Given the description of an element on the screen output the (x, y) to click on. 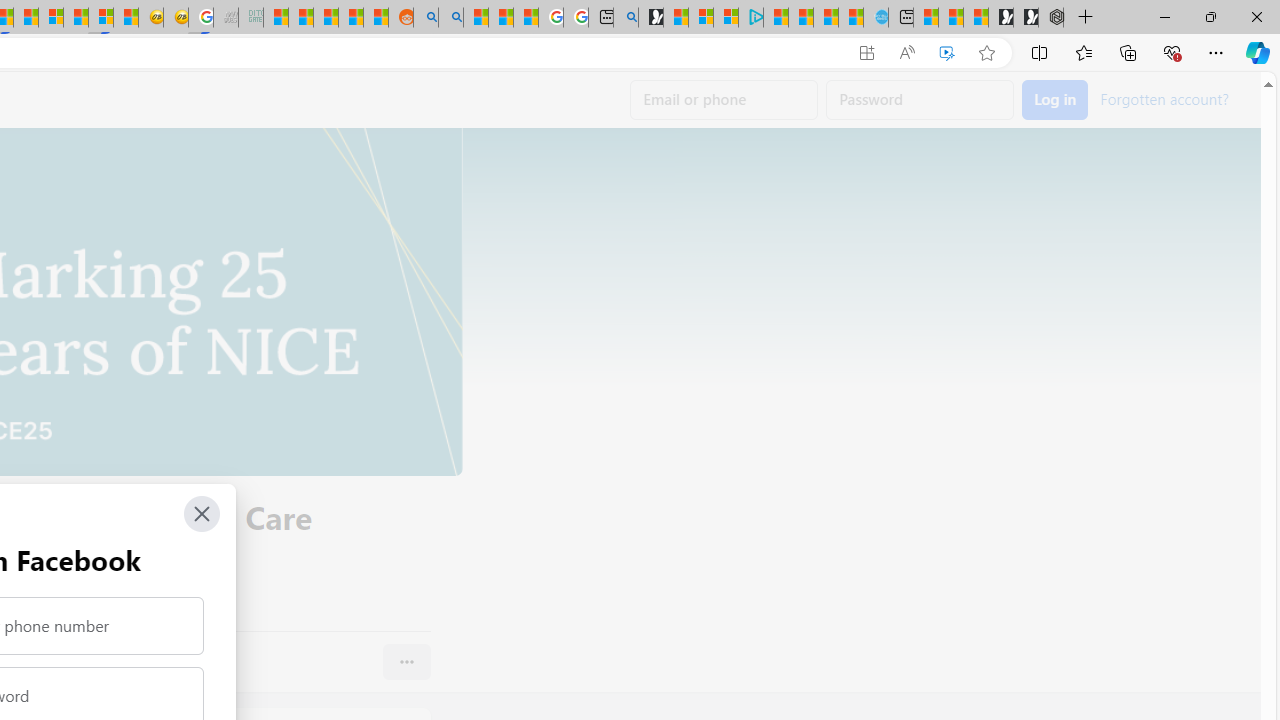
14 Common Myths Debunked By Scientific Facts (26, 17)
Navy Quest (225, 17)
Microsoft Start Gaming (650, 17)
DITOGAMES AG Imprint - Sleeping (250, 17)
Utah sues federal government - Search (451, 17)
App available. Install Facebook (867, 53)
